Given the description of an element on the screen output the (x, y) to click on. 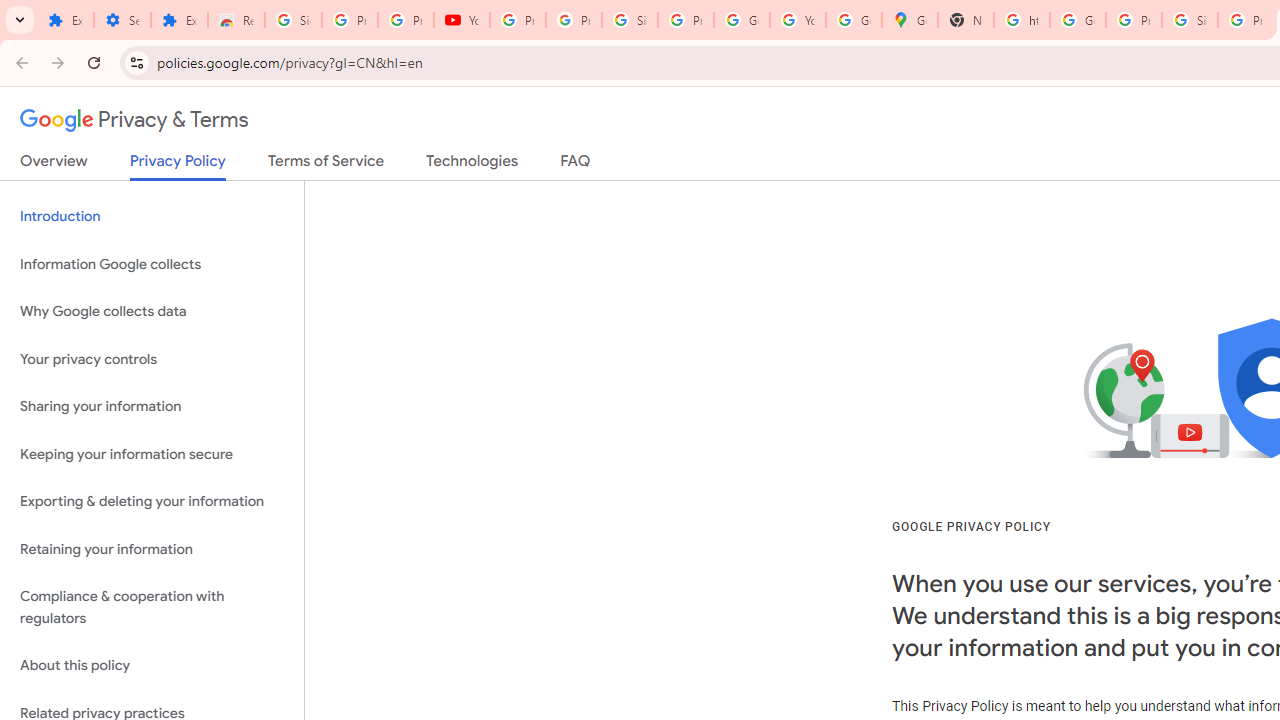
YouTube (461, 20)
New Tab (966, 20)
